Given the description of an element on the screen output the (x, y) to click on. 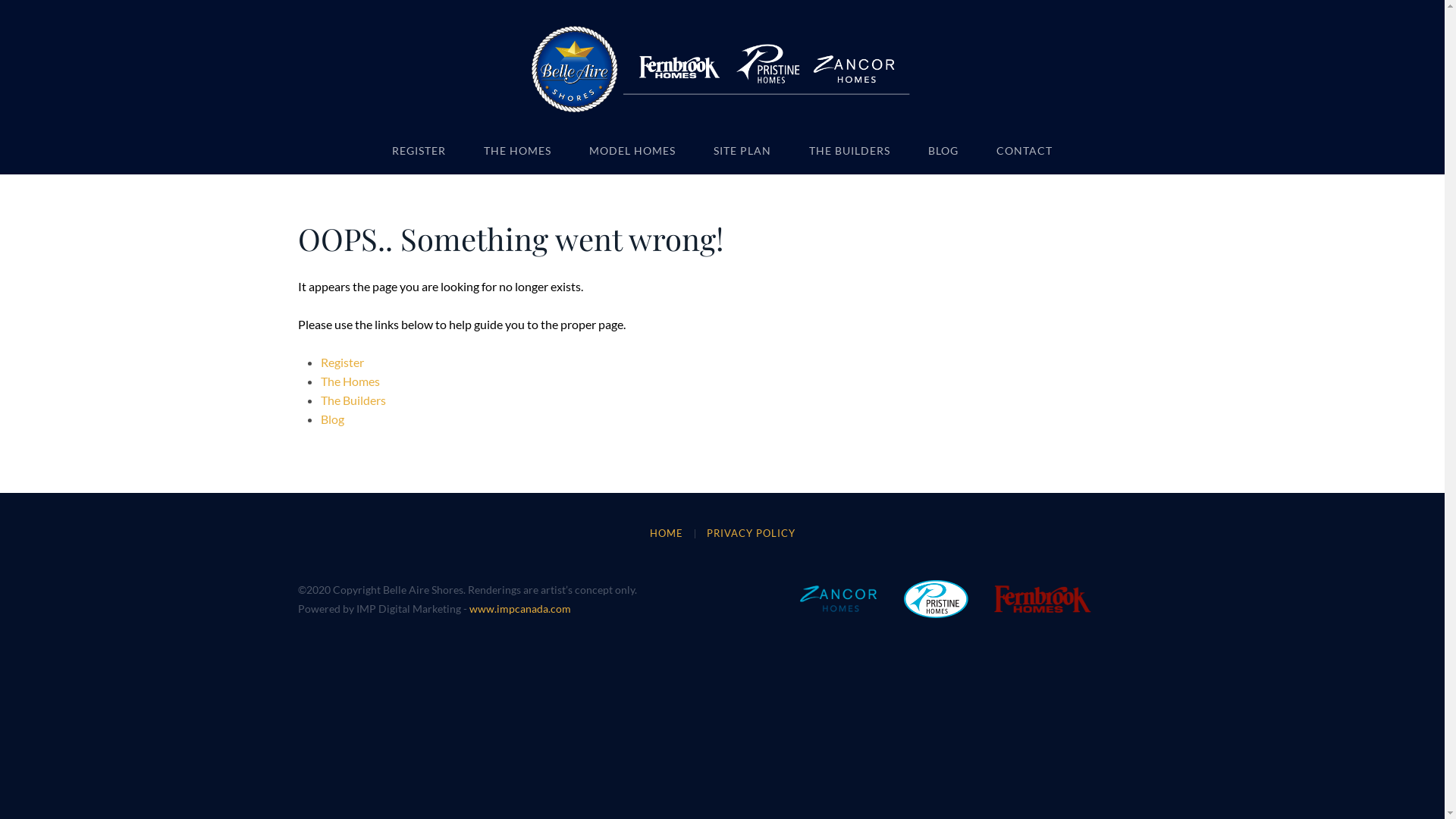
PRIVACY POLICY Element type: text (750, 533)
MODEL HOMES Element type: text (632, 150)
CONTACT Element type: text (1024, 150)
HOME Element type: text (665, 533)
The Homes Element type: text (349, 380)
Blog Element type: text (331, 418)
Register Element type: text (341, 361)
BLOG Element type: text (943, 150)
THE BUILDERS Element type: text (849, 150)
The Builders Element type: text (352, 399)
www.impcanada.com Element type: text (519, 608)
REGISTER Element type: text (418, 150)
SITE PLAN Element type: text (742, 150)
THE HOMES Element type: text (517, 150)
